Given the description of an element on the screen output the (x, y) to click on. 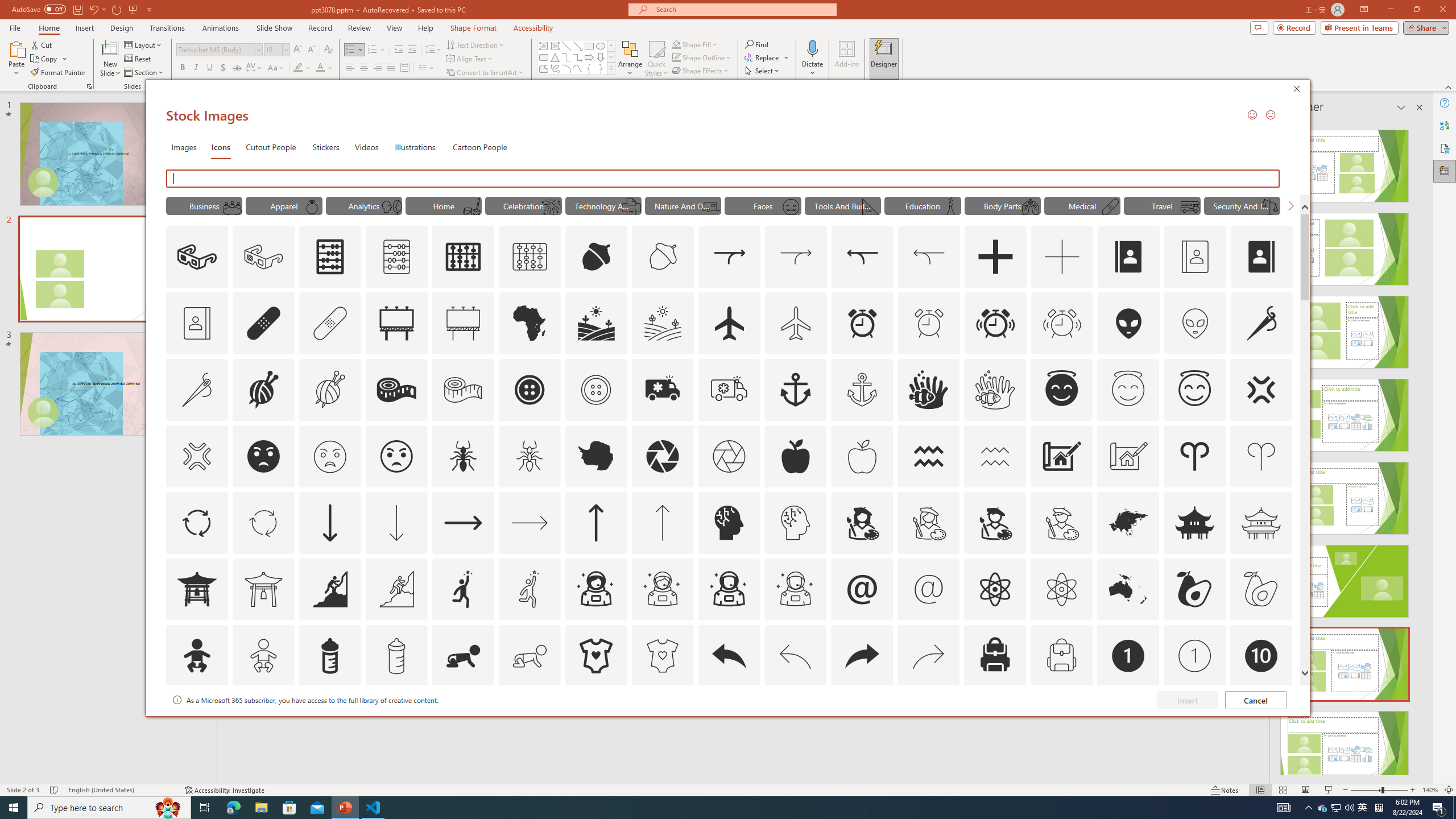
Connector: Elbow (566, 57)
AutomationID: Icons_Lungs_M (1030, 206)
Section (144, 72)
"Medical" Icons. (1082, 205)
Bold (182, 67)
"Home" Icons. (443, 205)
AutomationID: Icons_Airplane (729, 323)
AutomationID: Icons_BabyBottle (329, 655)
